Given the description of an element on the screen output the (x, y) to click on. 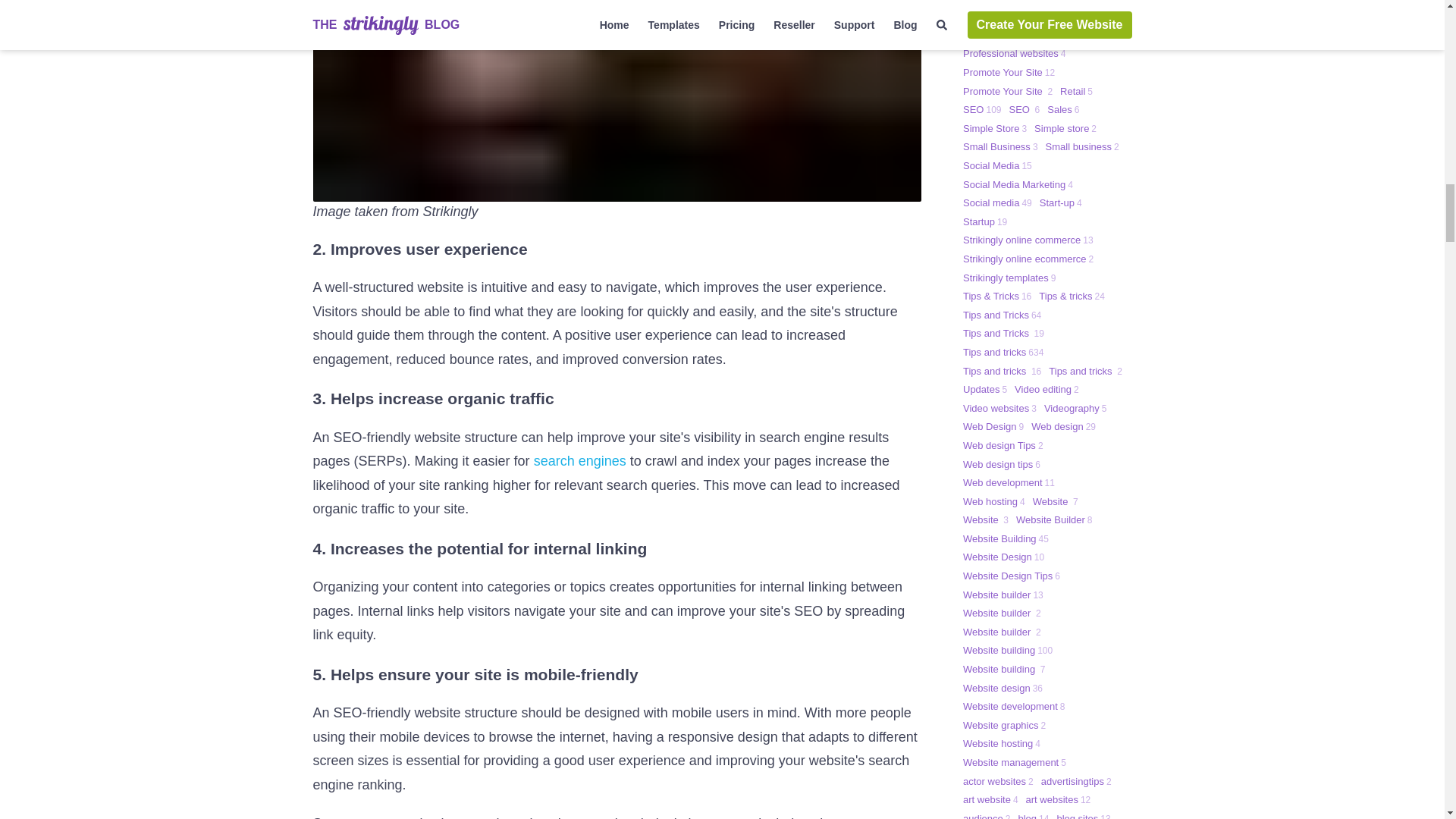
search engines (580, 460)
